Given the description of an element on the screen output the (x, y) to click on. 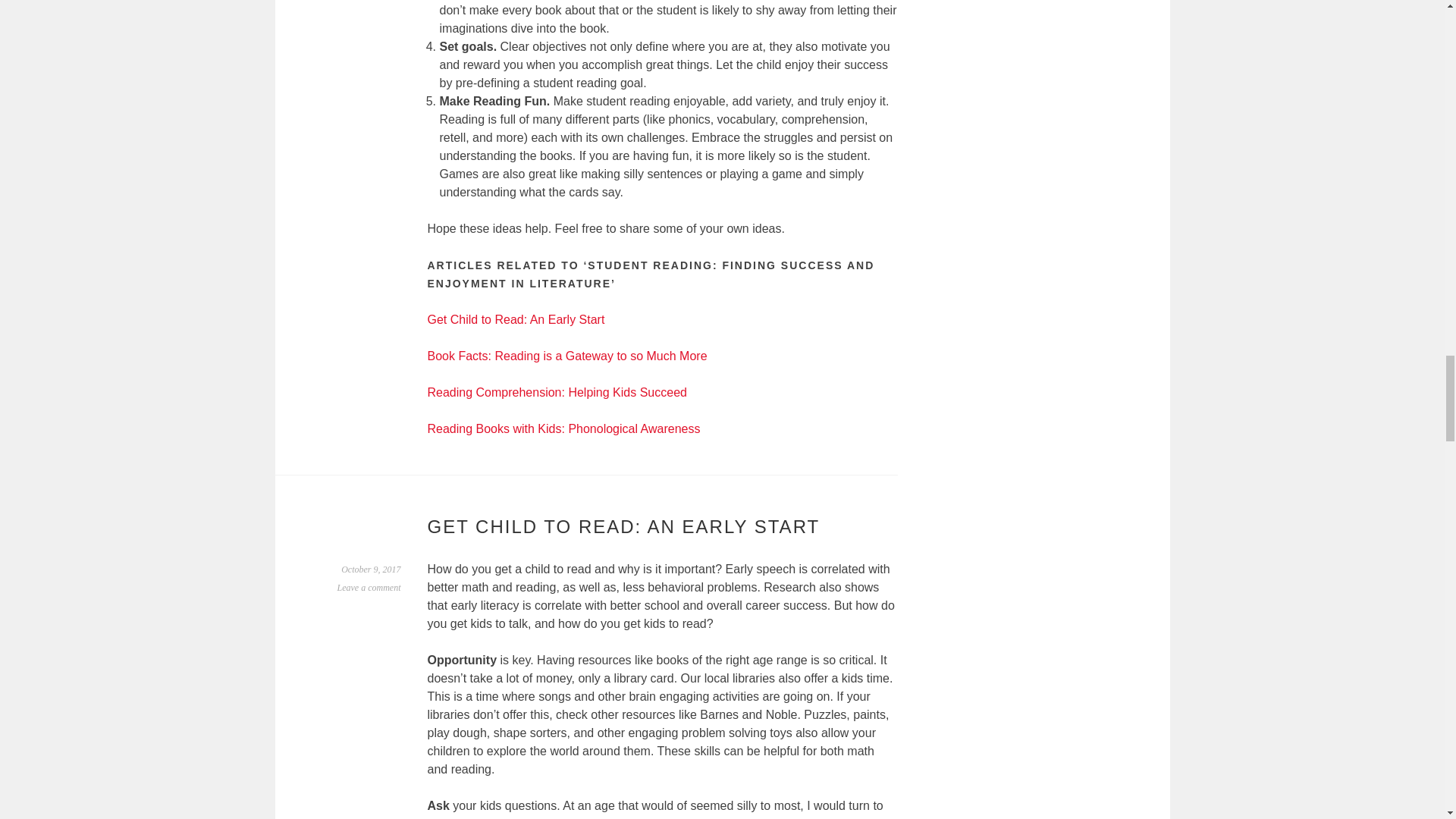
Get Child to Read: An Early Start (516, 318)
Leave a comment (369, 587)
October 9, 2017 (370, 569)
Reading Books with Kids: Phonological Awareness (564, 428)
Reading Comprehension: Helping Kids Succeed (557, 391)
Permalink to Get Child to Read: An Early Start (370, 569)
Book Facts: Reading is a Gateway to so Much More (567, 355)
GET CHILD TO READ: AN EARLY START (624, 526)
